Given the description of an element on the screen output the (x, y) to click on. 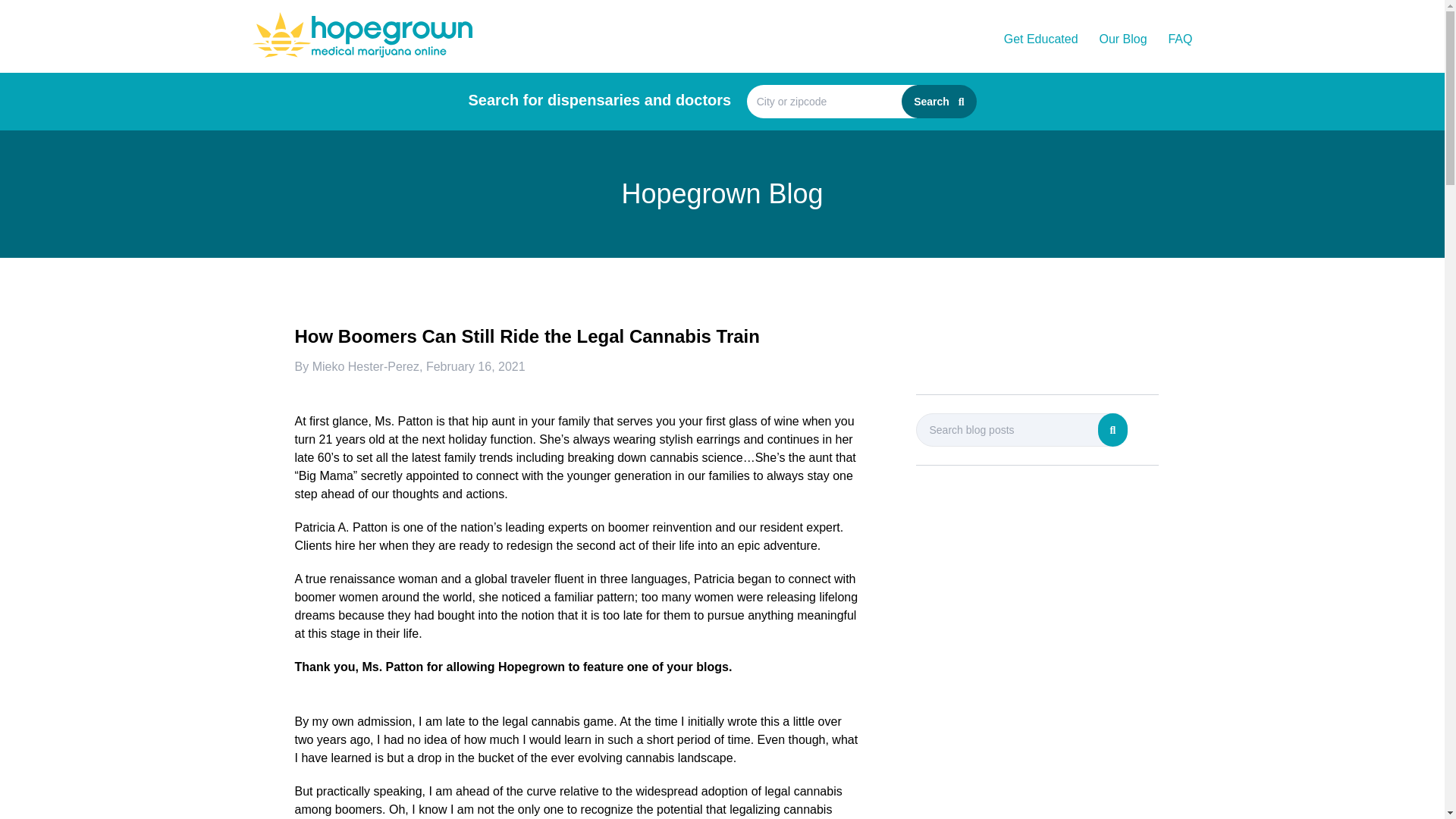
Get Educated (1041, 39)
Our Blog (1123, 39)
Mieko Hester-Perez (366, 366)
Search (938, 101)
FAQ (1178, 39)
Hopegrown Blog (721, 194)
